Given the description of an element on the screen output the (x, y) to click on. 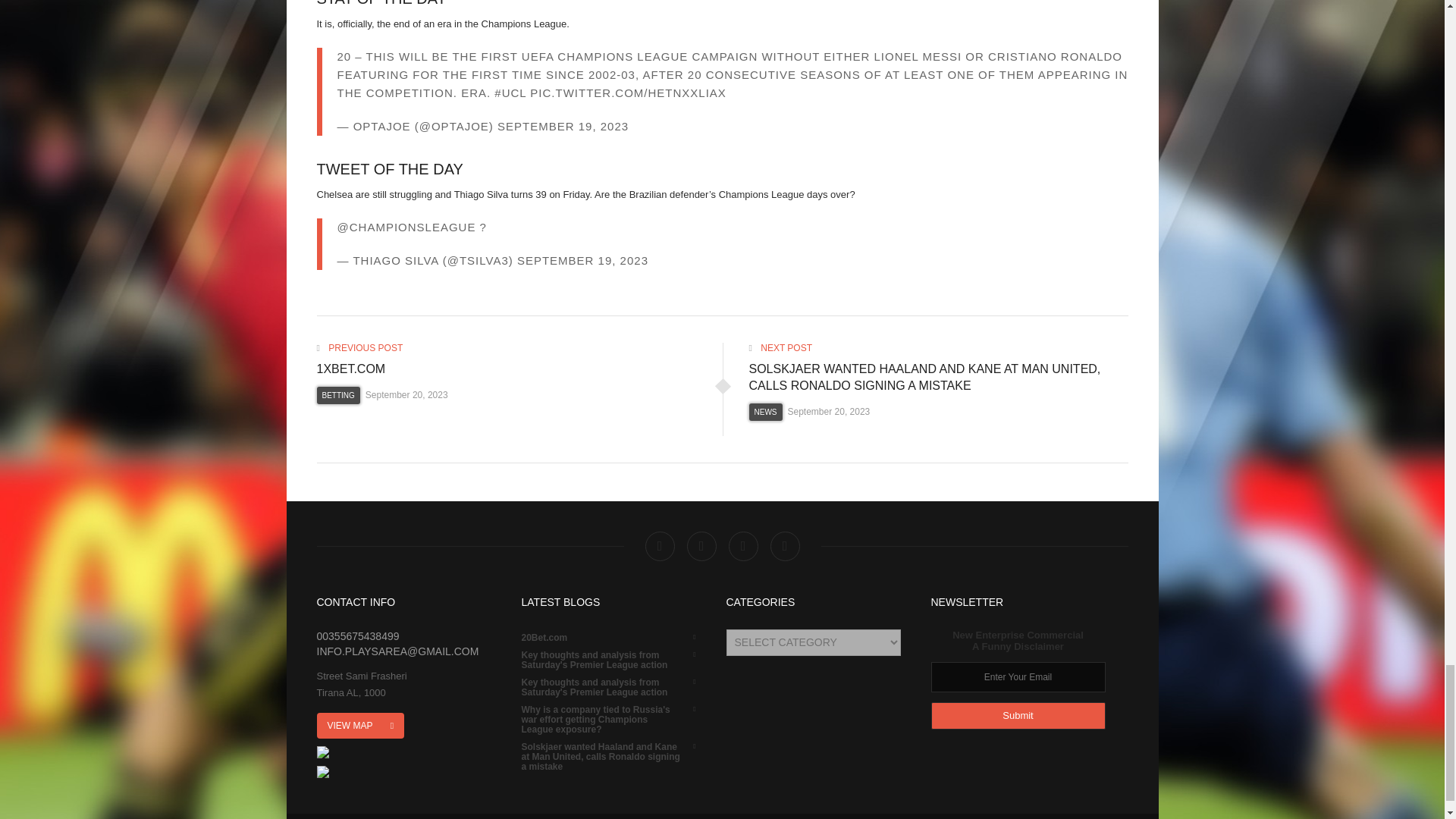
BETTING (338, 395)
NEWS (766, 411)
PREVIOUS POST (360, 347)
NEXT POST (780, 347)
Submit (1018, 715)
Enter Your Email (1018, 676)
